Given the description of an element on the screen output the (x, y) to click on. 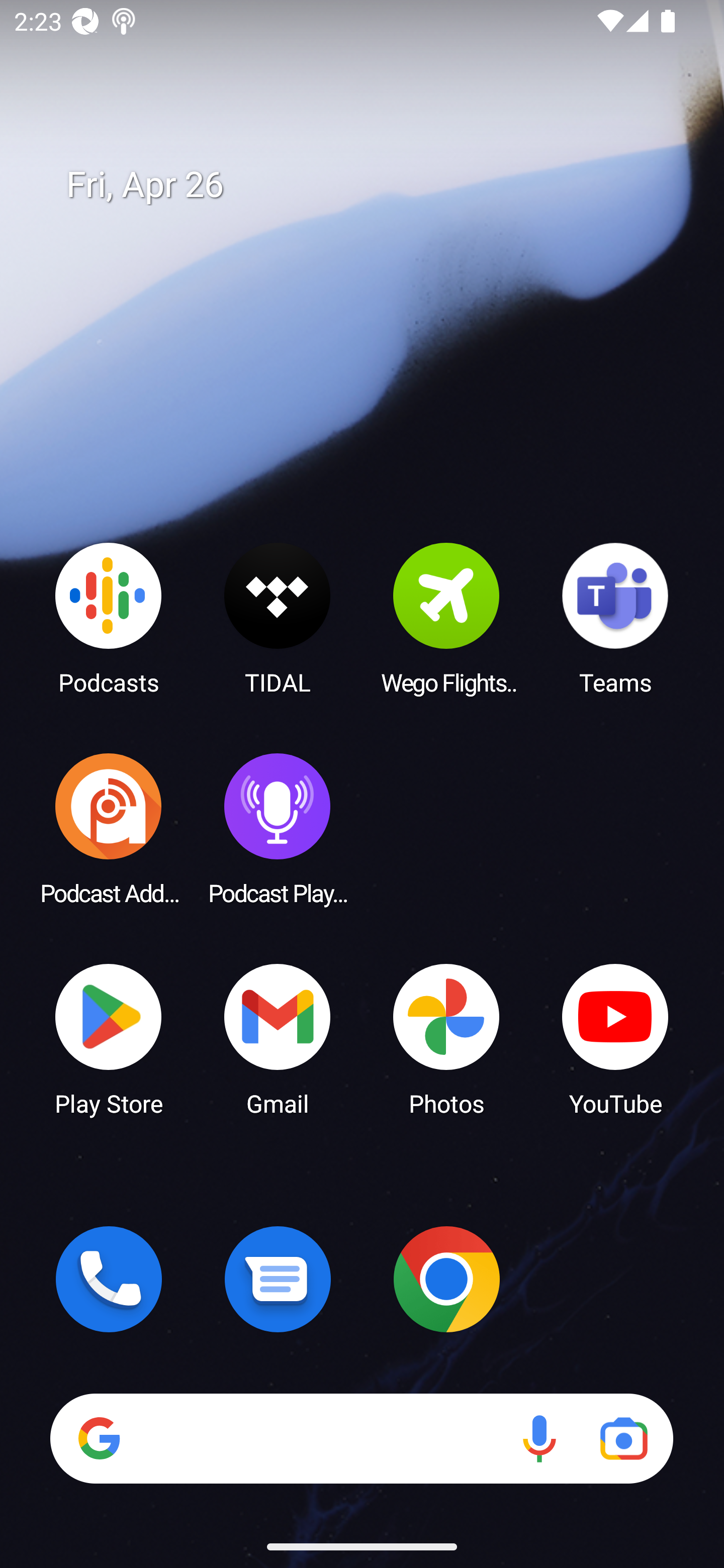
Fri, Apr 26 (375, 184)
Podcasts (108, 617)
TIDAL (277, 617)
Wego Flights & Hotels (445, 617)
Teams (615, 617)
Podcast Addict (108, 828)
Podcast Player (277, 828)
Play Store (108, 1038)
Gmail (277, 1038)
Photos (445, 1038)
YouTube (615, 1038)
Phone (108, 1279)
Messages (277, 1279)
Chrome (446, 1279)
Search Voice search Google Lens (361, 1438)
Voice search (539, 1438)
Google Lens (623, 1438)
